Given the description of an element on the screen output the (x, y) to click on. 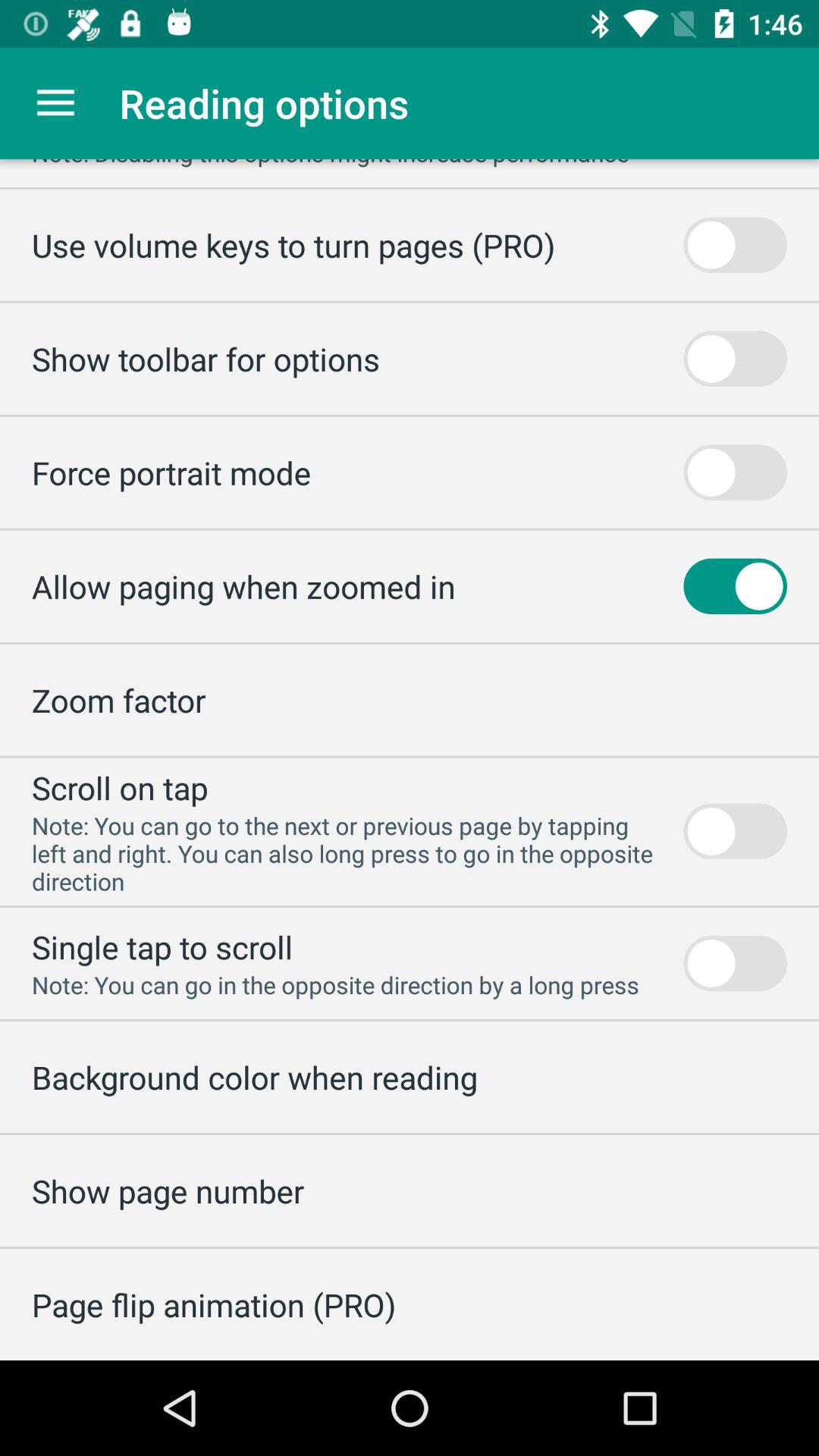
launch icon above scroll on tap item (118, 699)
